Given the description of an element on the screen output the (x, y) to click on. 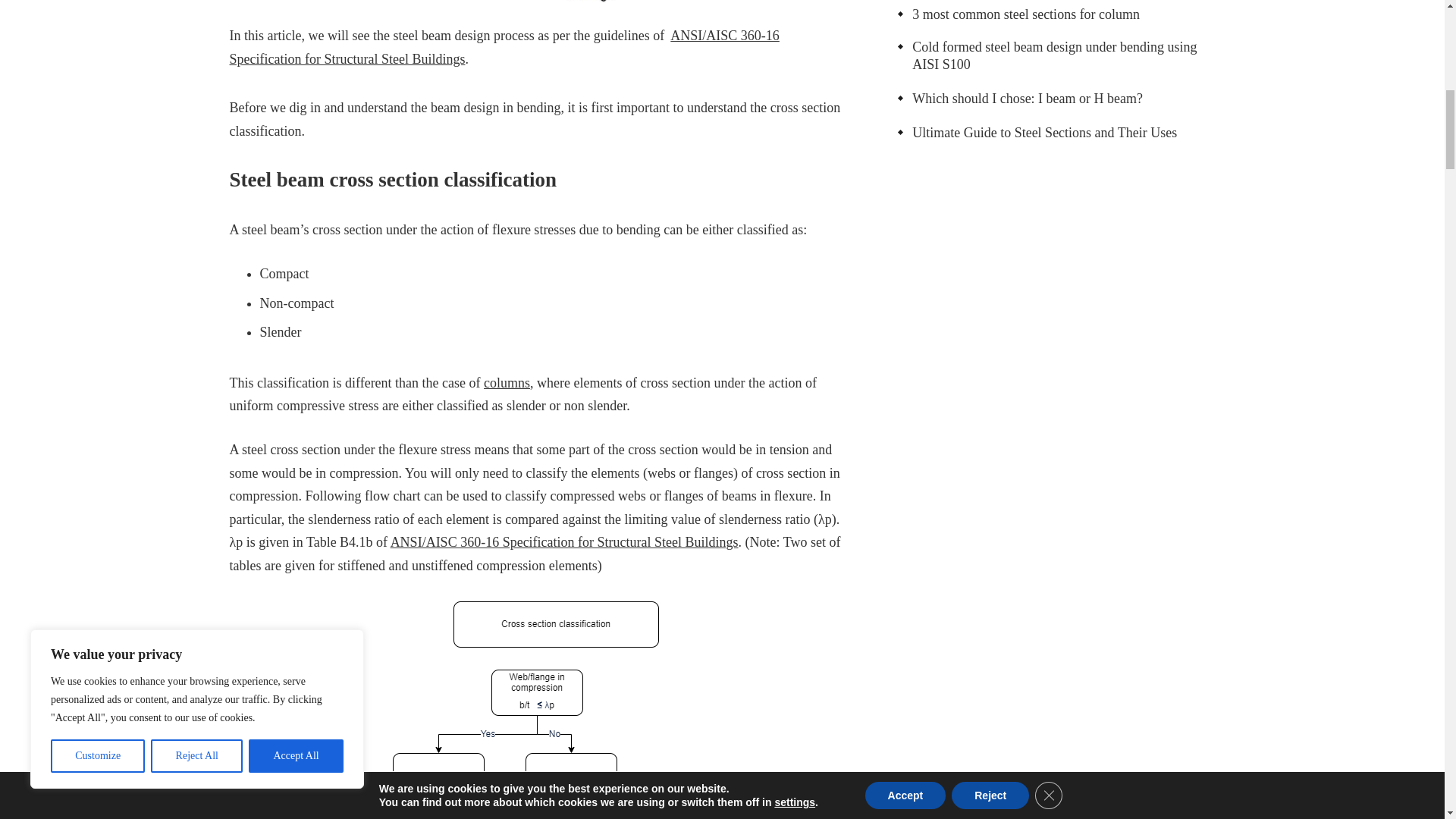
columns (506, 382)
